Given the description of an element on the screen output the (x, y) to click on. 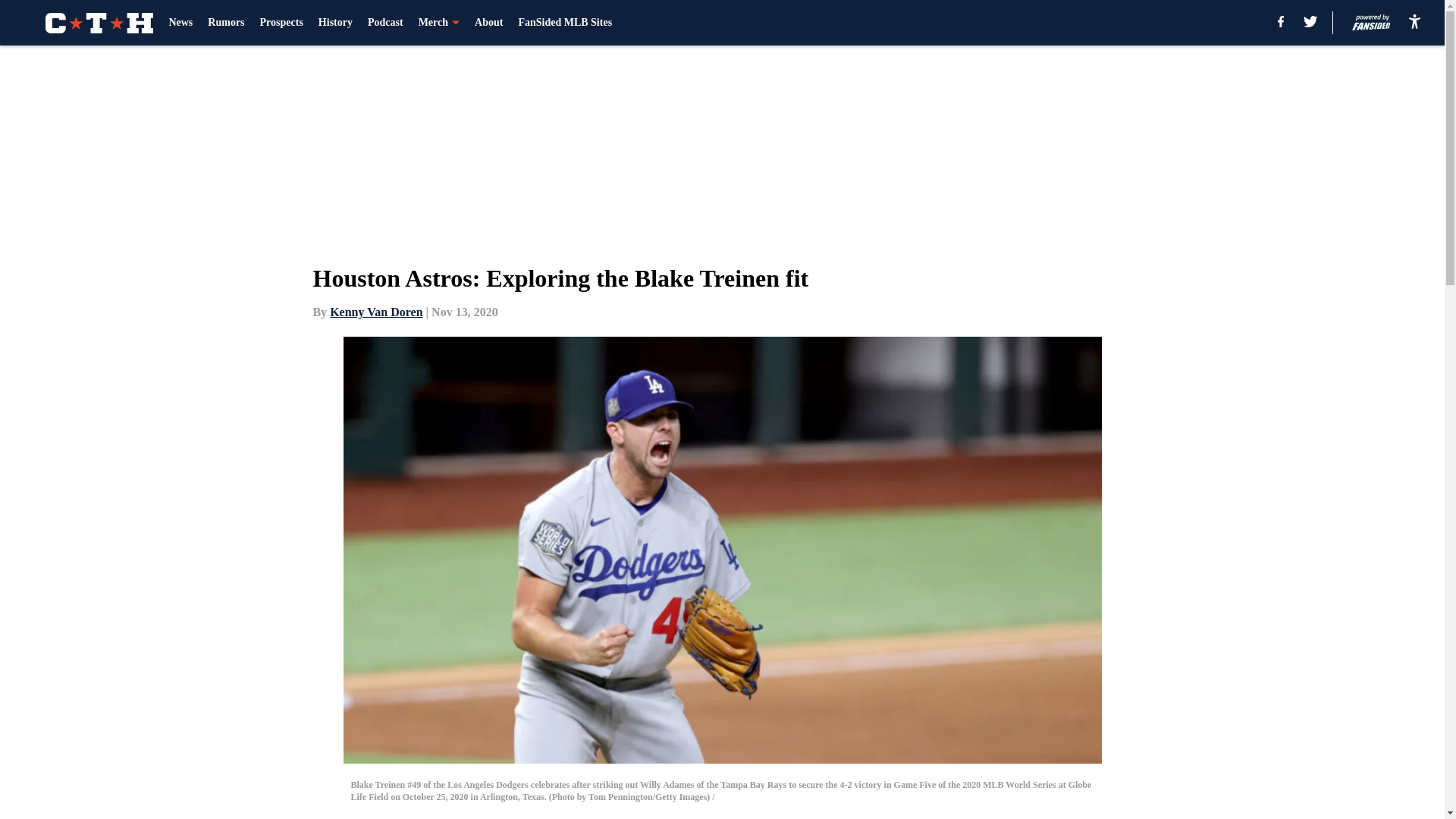
News (180, 22)
Rumors (226, 22)
History (335, 22)
FanSided MLB Sites (564, 22)
Kenny Van Doren (376, 311)
Podcast (385, 22)
About (488, 22)
Prospects (281, 22)
